Given the description of an element on the screen output the (x, y) to click on. 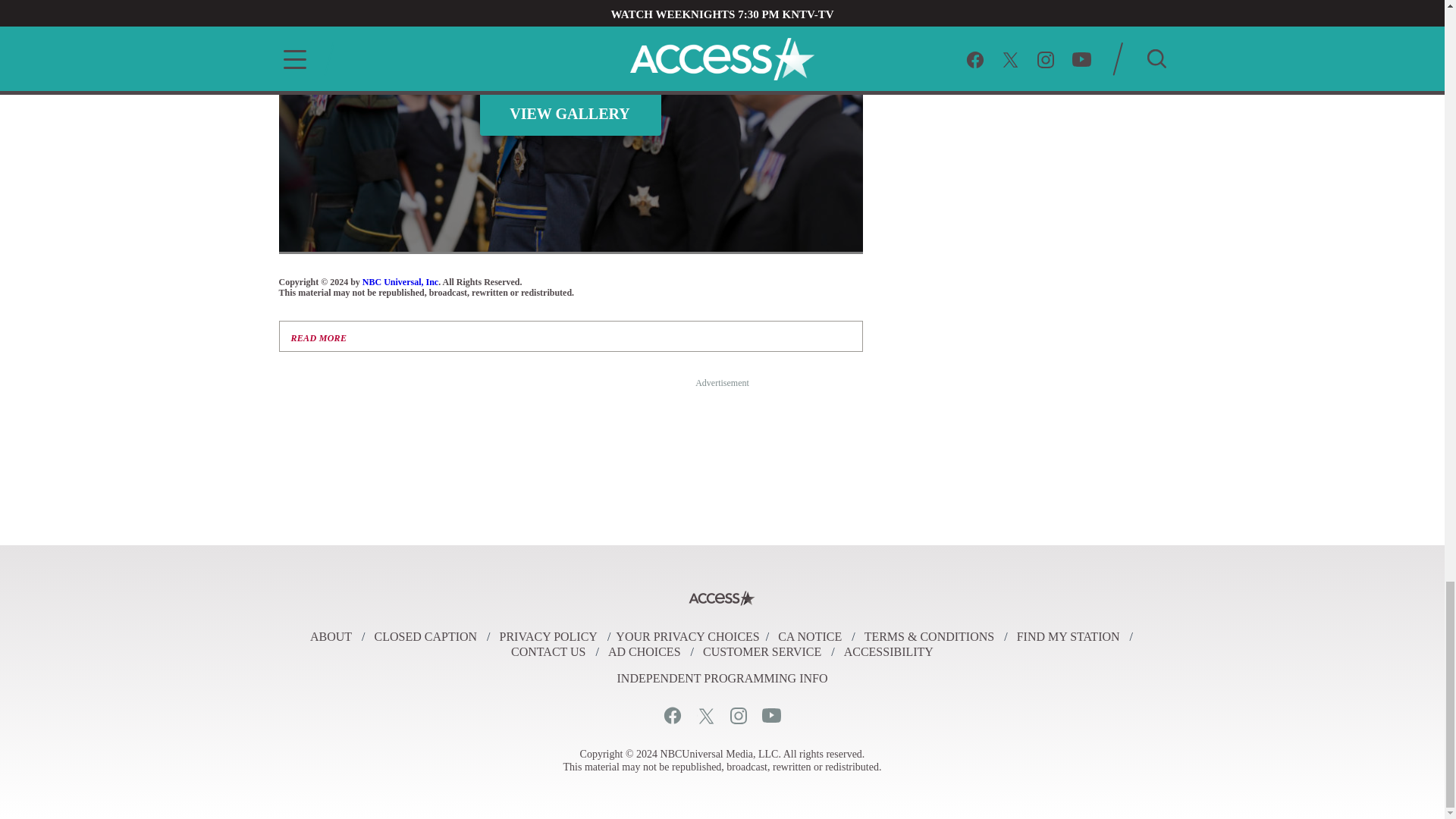
Twitter (704, 714)
Instagram (737, 714)
Facebook (671, 714)
Youtube (770, 714)
